Given the description of an element on the screen output the (x, y) to click on. 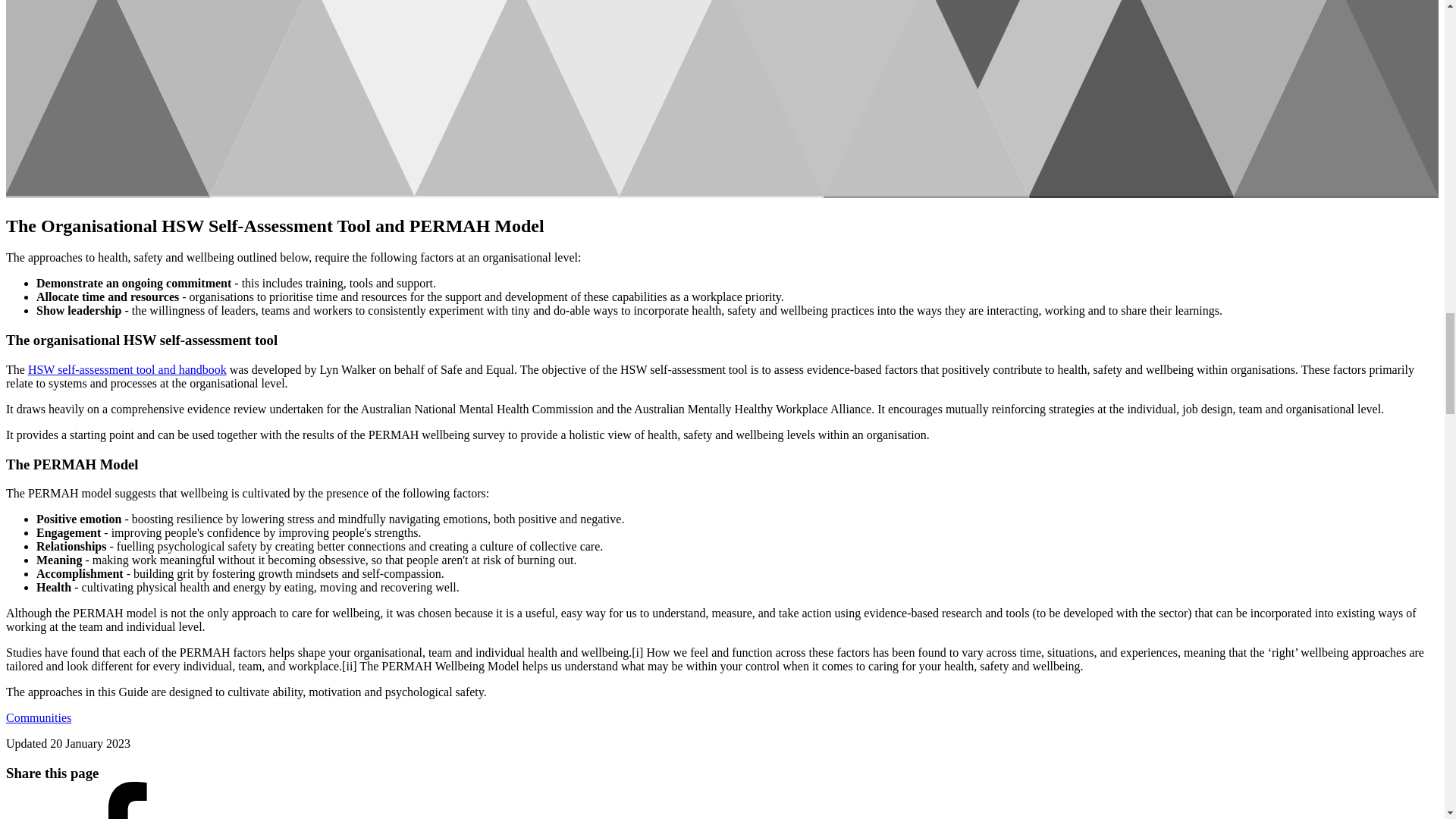
Facebook (143, 800)
Communities (38, 717)
HSW self-assessment tool and handbook (127, 369)
